Given the description of an element on the screen output the (x, y) to click on. 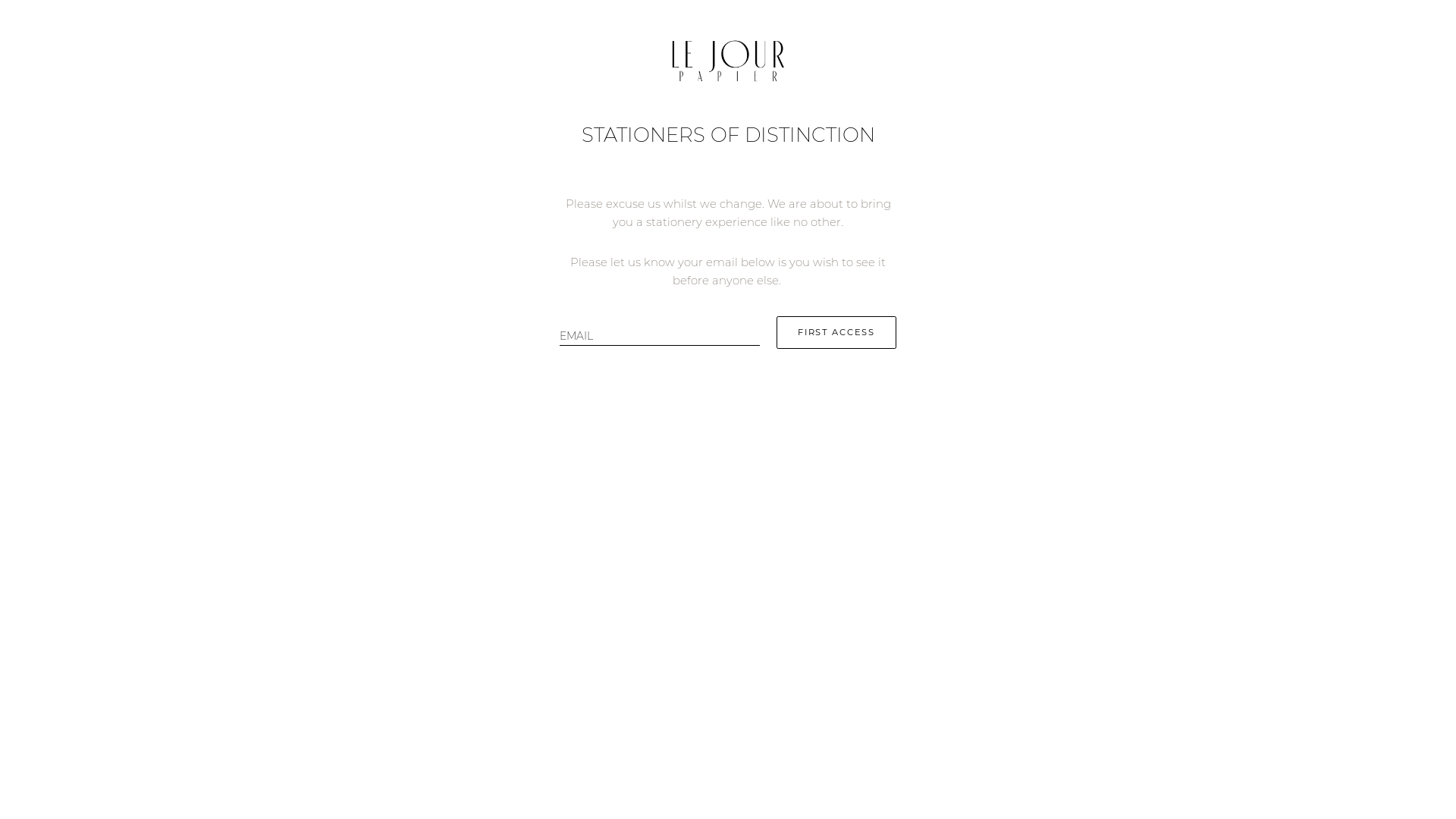
Skip to content Element type: text (5, 5)
FIRST ACCESS Element type: text (836, 332)
